Given the description of an element on the screen output the (x, y) to click on. 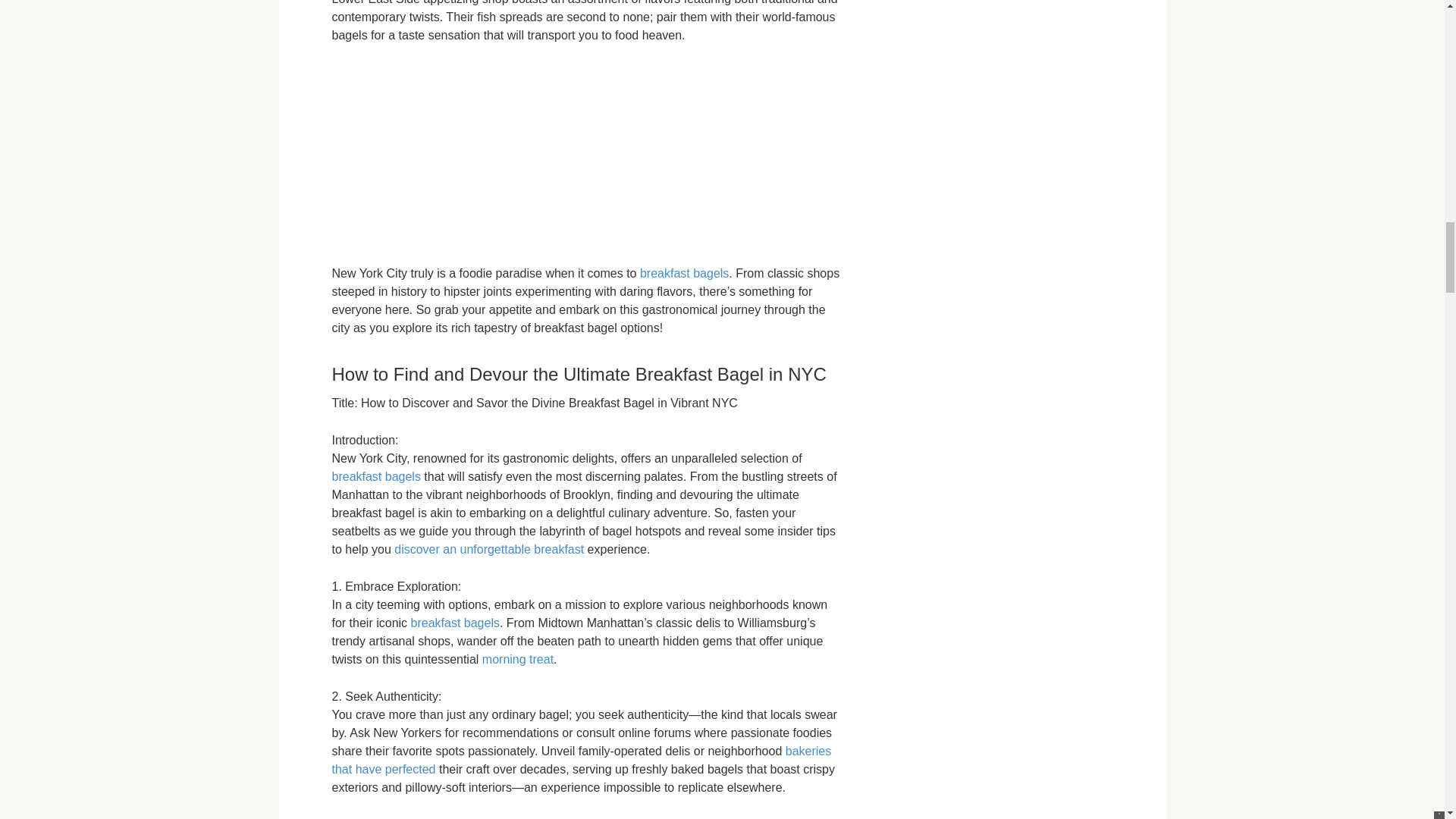
morning treat (517, 658)
discover an unforgettable breakfast (488, 549)
breakfast bagels (375, 476)
bakeries that have perfected (581, 759)
breakfast bagels (454, 622)
breakfast bagels (684, 273)
